Given the description of an element on the screen output the (x, y) to click on. 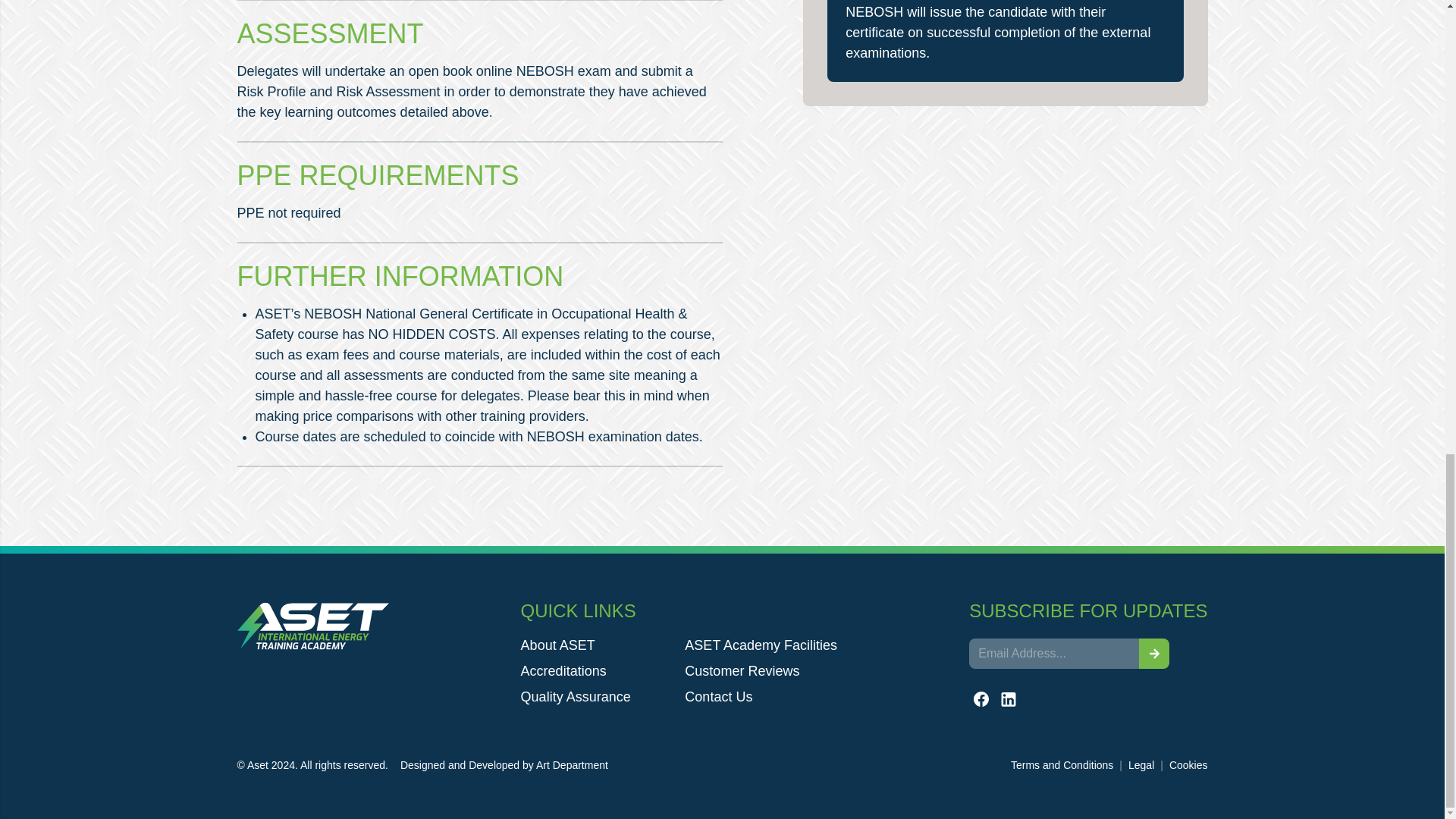
Terms and Conditions (1061, 765)
ASET Homepage (311, 625)
Contact Us (760, 696)
Quality Assurance (596, 696)
About ASET (596, 644)
Customer Reviews (760, 671)
Accreditations (596, 671)
ASET Academy Facilities (760, 644)
Legal (1141, 765)
Cookies (1188, 765)
Quality Assurance (596, 696)
Accreditations (596, 671)
Art Department (571, 765)
Contact Us (760, 696)
Customer Reviews (760, 671)
